Given the description of an element on the screen output the (x, y) to click on. 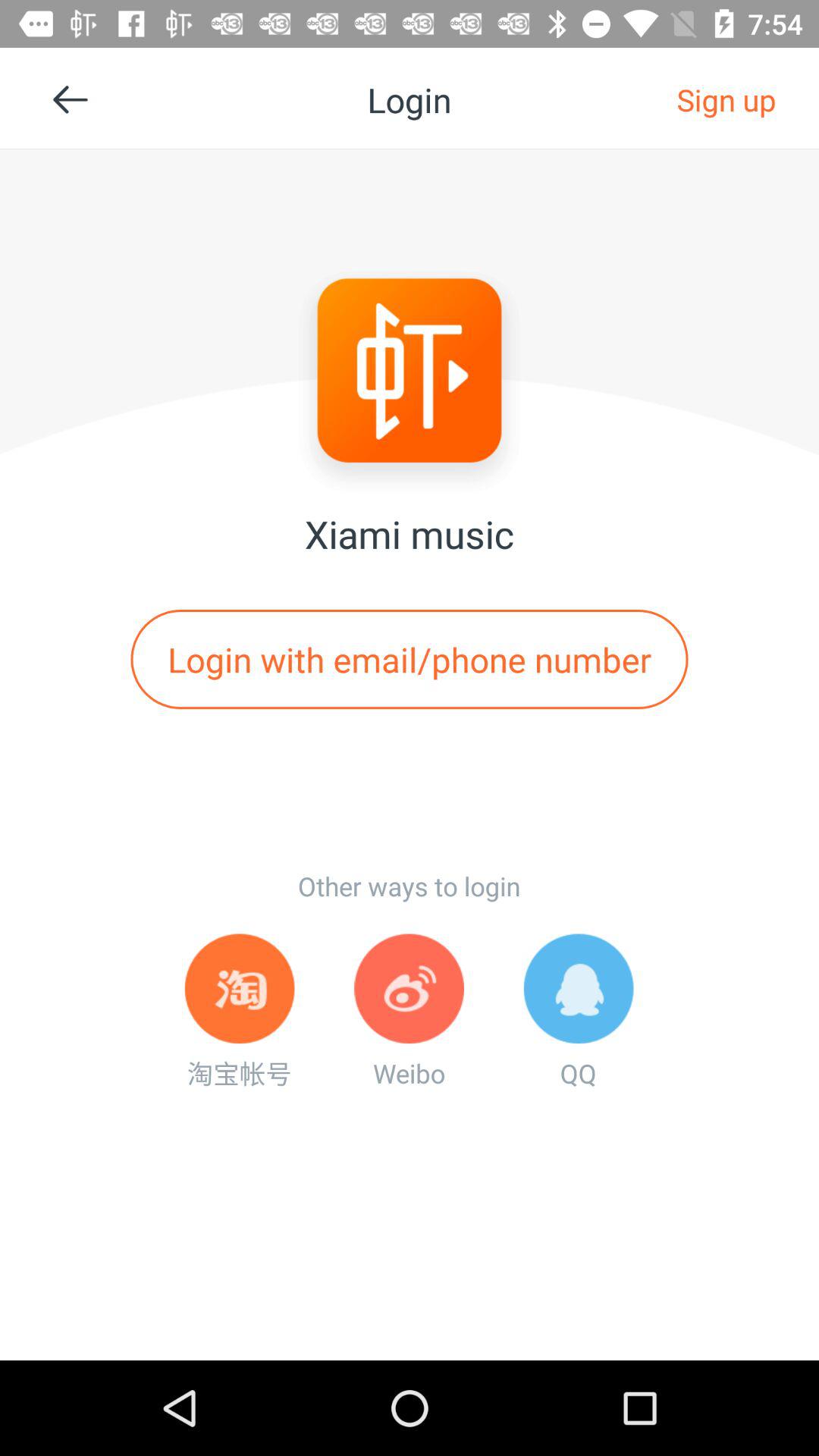
launch app below xiami music item (409, 659)
